Given the description of an element on the screen output the (x, y) to click on. 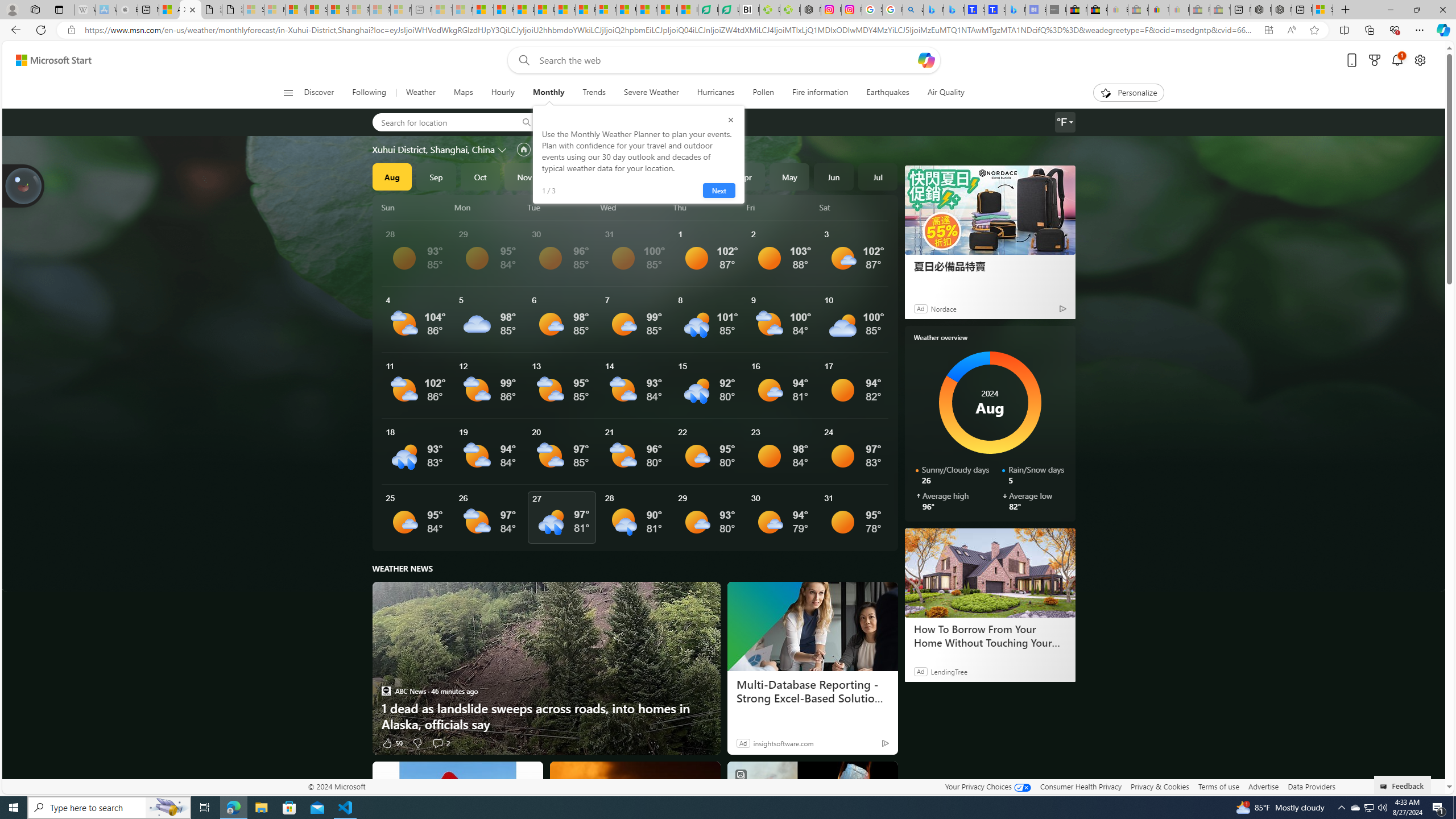
View comments 2 Comment (437, 743)
